Given the description of an element on the screen output the (x, y) to click on. 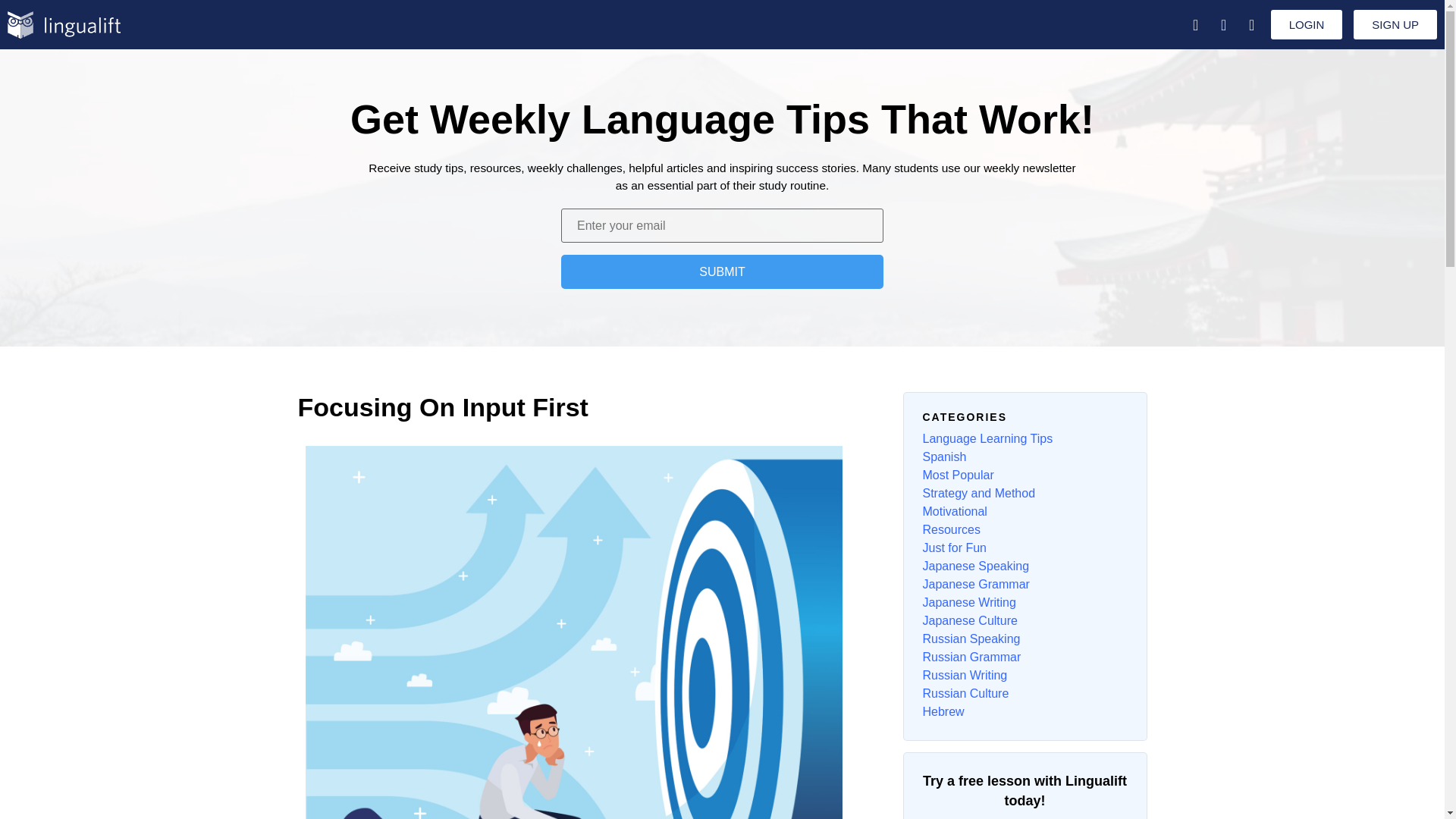
Japanese Writing (967, 602)
SIGN UP (1395, 24)
Strategy and Method (978, 492)
Motivational (954, 511)
Spanish (943, 456)
Resources (950, 529)
Most Popular (956, 474)
Submit (721, 271)
Russian Culture (965, 693)
Japanese Speaking (975, 565)
Russian Speaking (970, 638)
LOGIN (1306, 24)
Russian Grammar (970, 656)
Submit (721, 271)
Japanese Culture (968, 620)
